Given the description of an element on the screen output the (x, y) to click on. 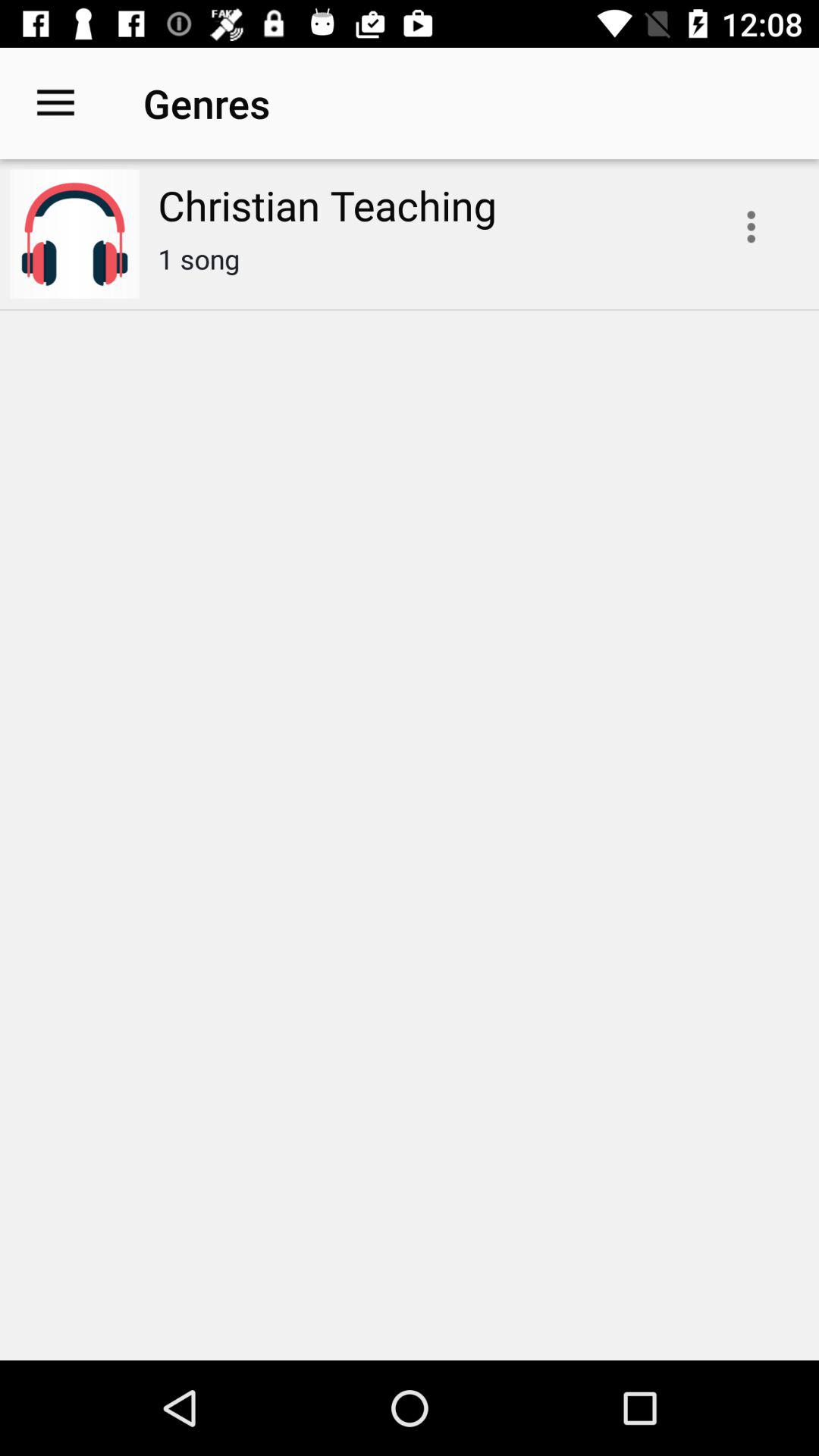
playlist options (750, 226)
